Given the description of an element on the screen output the (x, y) to click on. 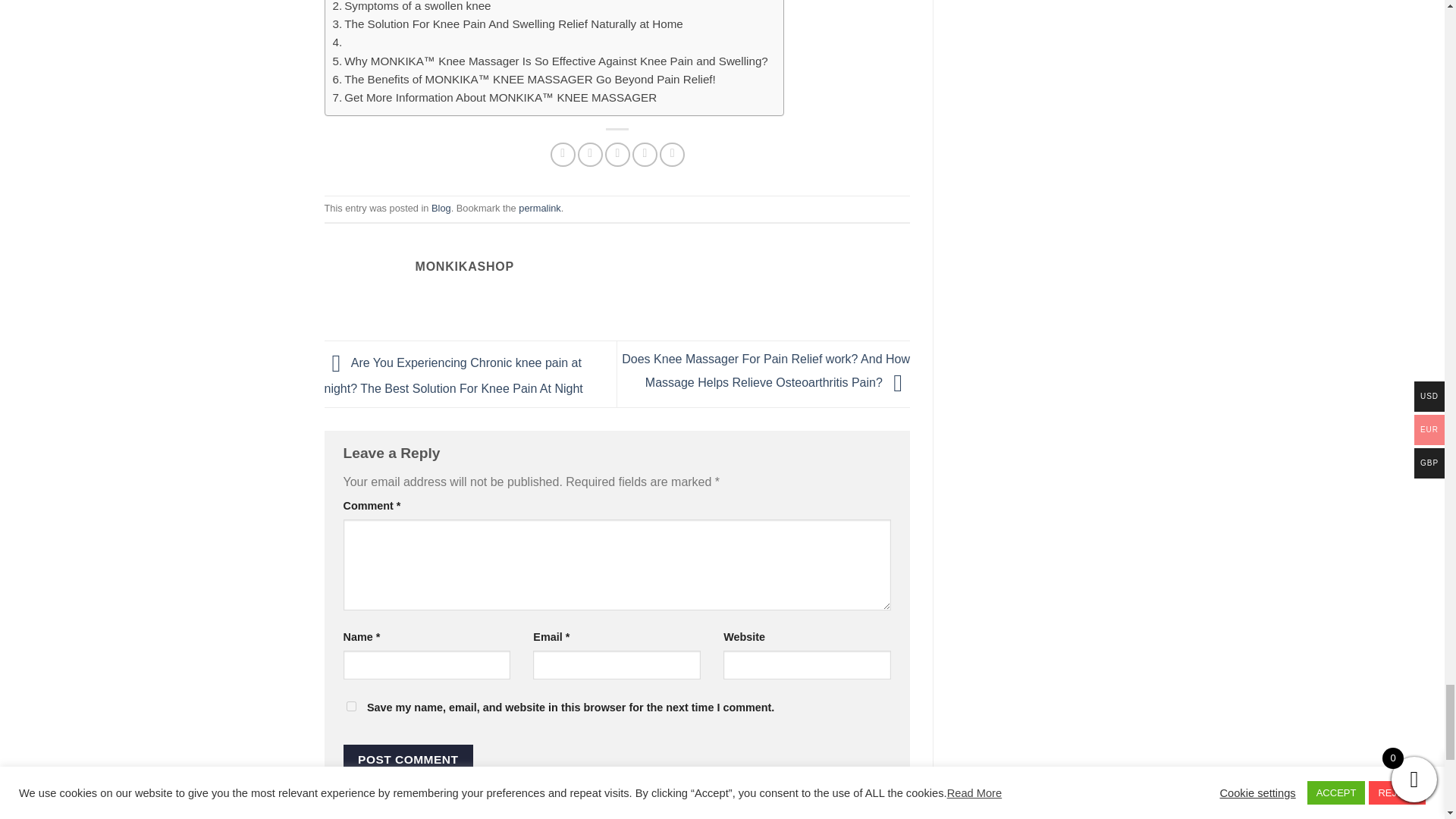
Post Comment (407, 758)
yes (350, 706)
